Given the description of an element on the screen output the (x, y) to click on. 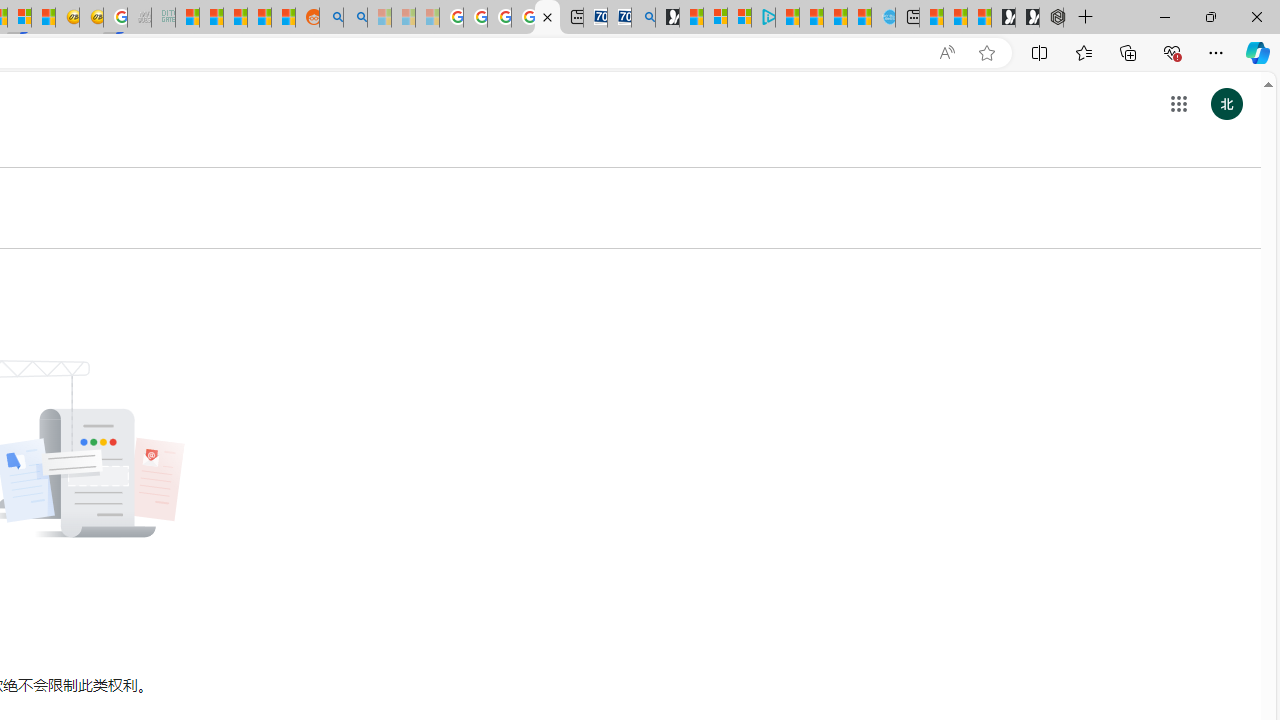
Cheap Car Rentals - Save70.com (619, 17)
